Given the description of an element on the screen output the (x, y) to click on. 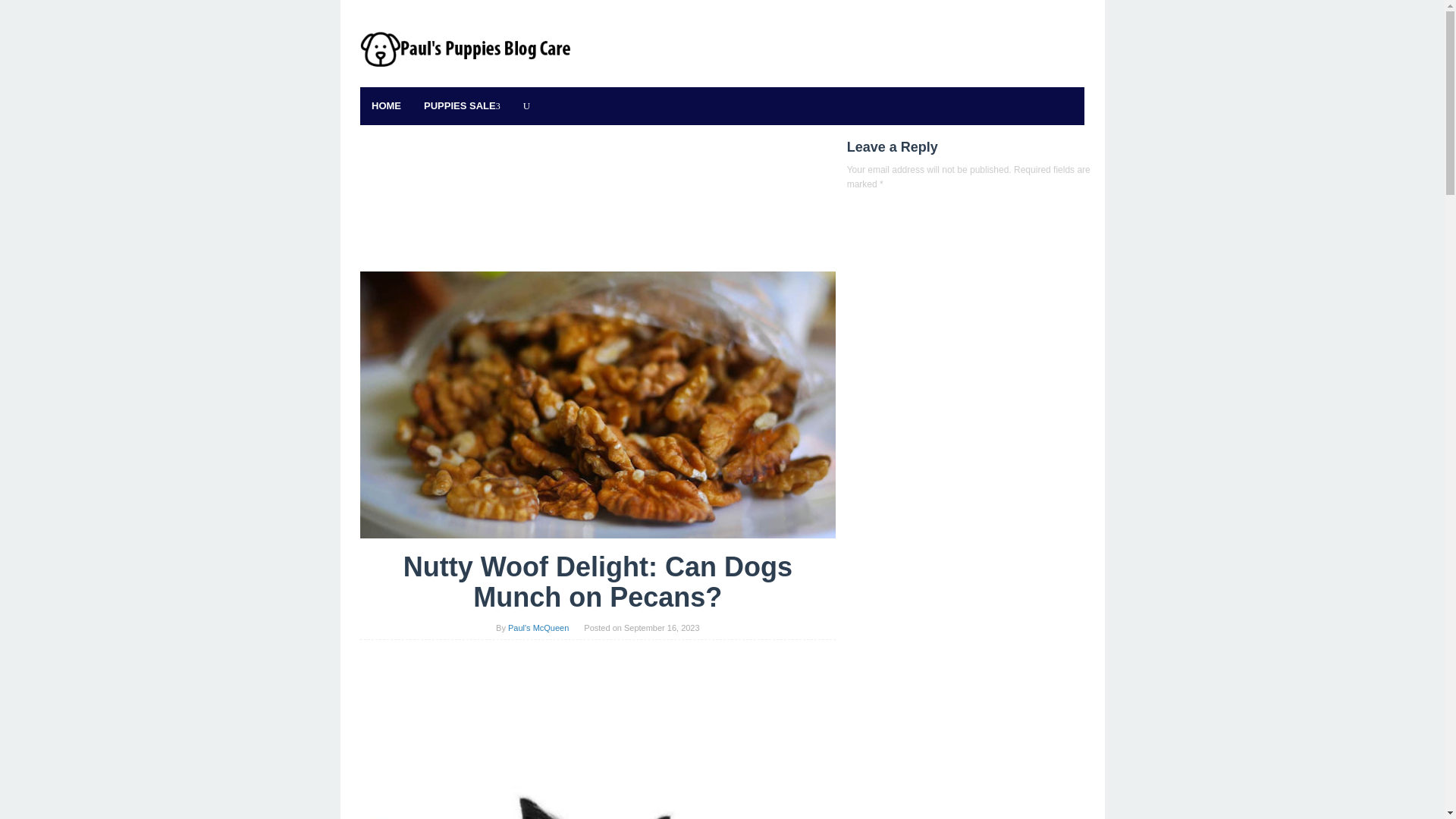
Advertisement (597, 720)
Paul's McQueen (538, 627)
Caring Canine Companions: Your Guide to Exceptional Dog Care (465, 49)
Caring Canine Companions: Your Guide to Exceptional Dog Care (465, 48)
PUPPIES SALE (462, 105)
HOME (385, 105)
Permalink to: Paul's McQueen (538, 627)
nutty-woof-delight-can-dogs-munch-on-pecans (597, 404)
Advertisement (597, 205)
